Given the description of an element on the screen output the (x, y) to click on. 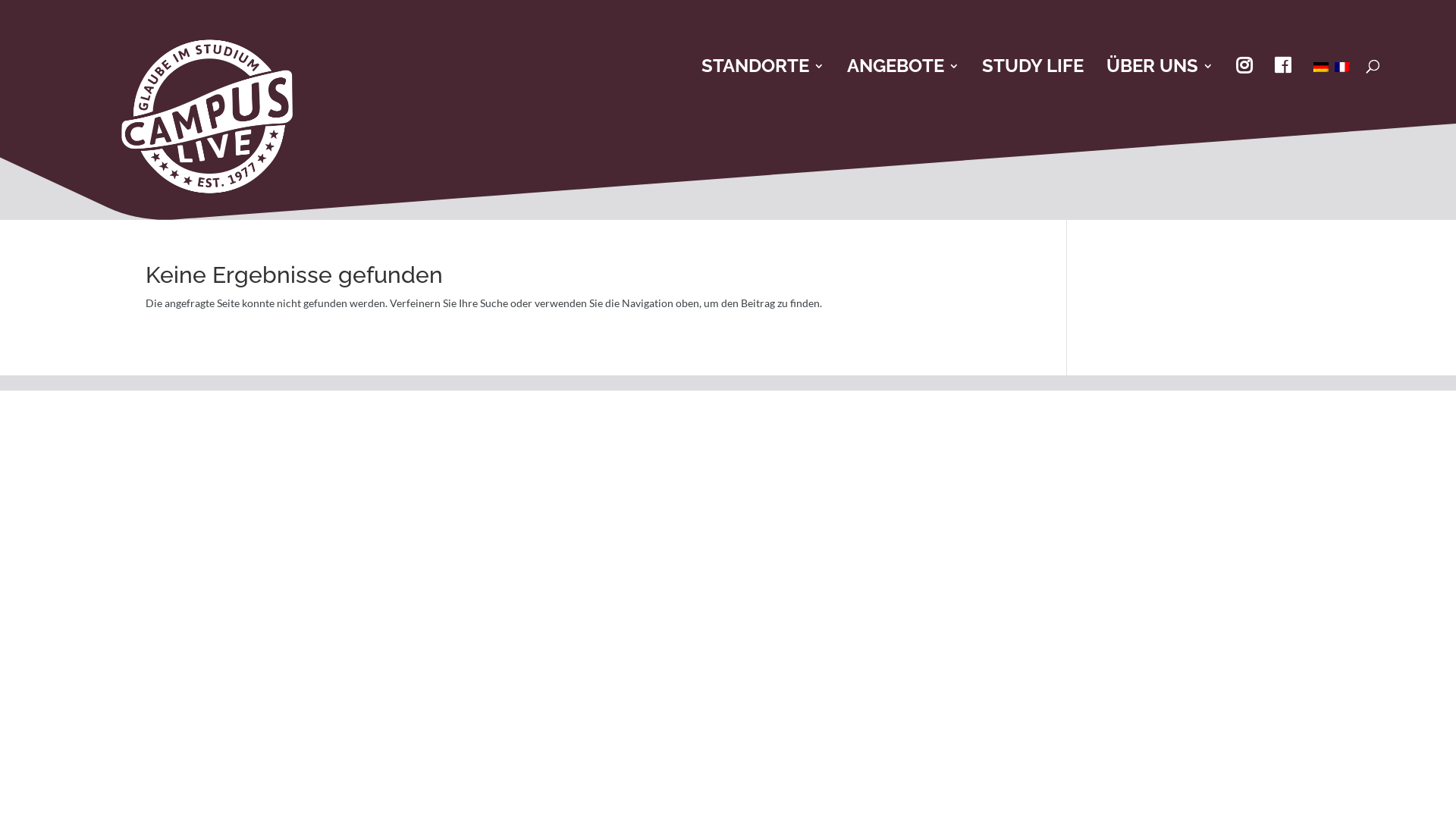
STUDY LIFE Element type: text (1032, 65)
ANGEBOTE Element type: text (903, 65)
STANDORTE Element type: text (762, 65)
